Given the description of an element on the screen output the (x, y) to click on. 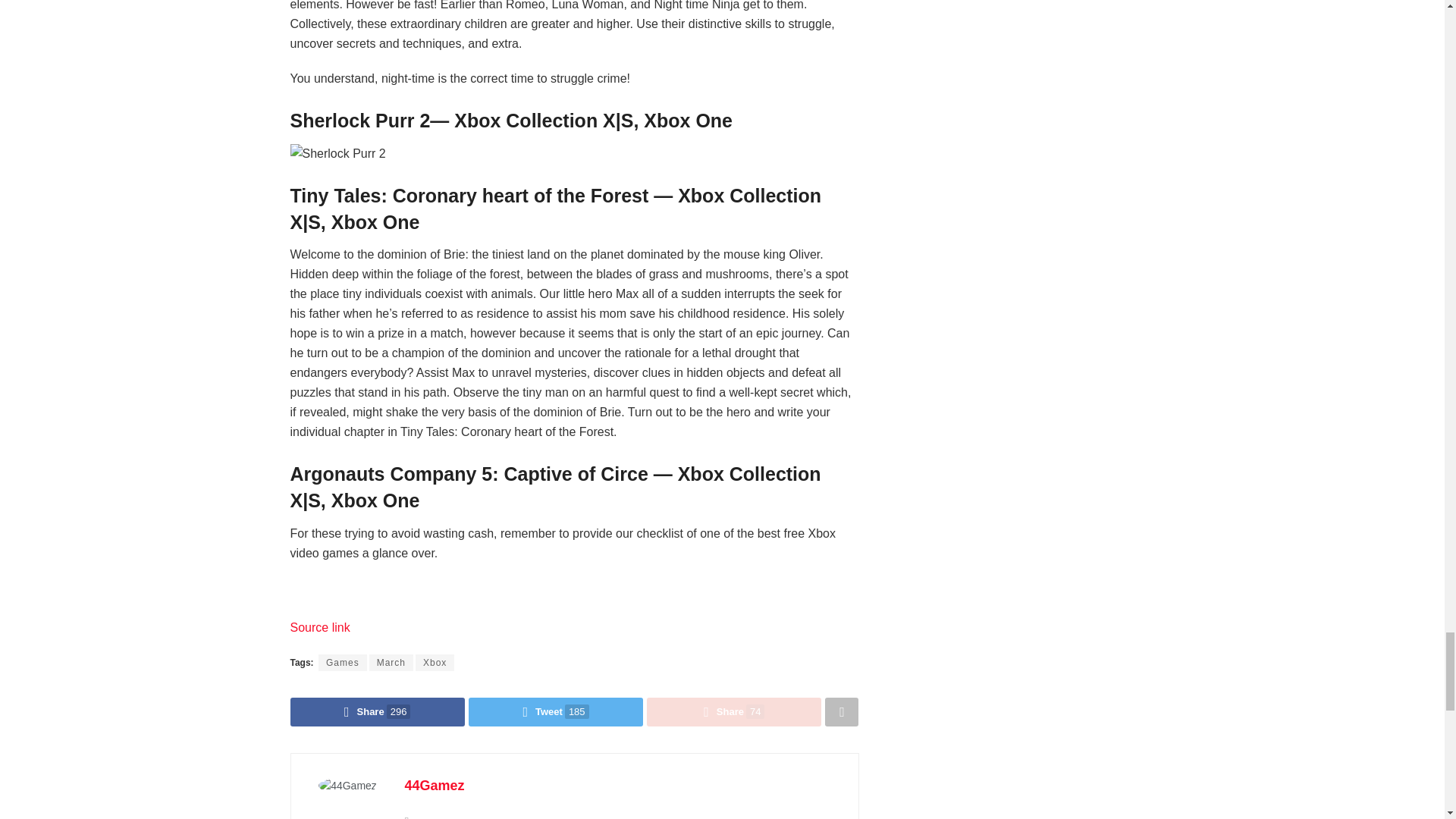
Share296 (376, 711)
Games (342, 662)
March (391, 662)
Source link (319, 626)
Xbox (434, 662)
